Given the description of an element on the screen output the (x, y) to click on. 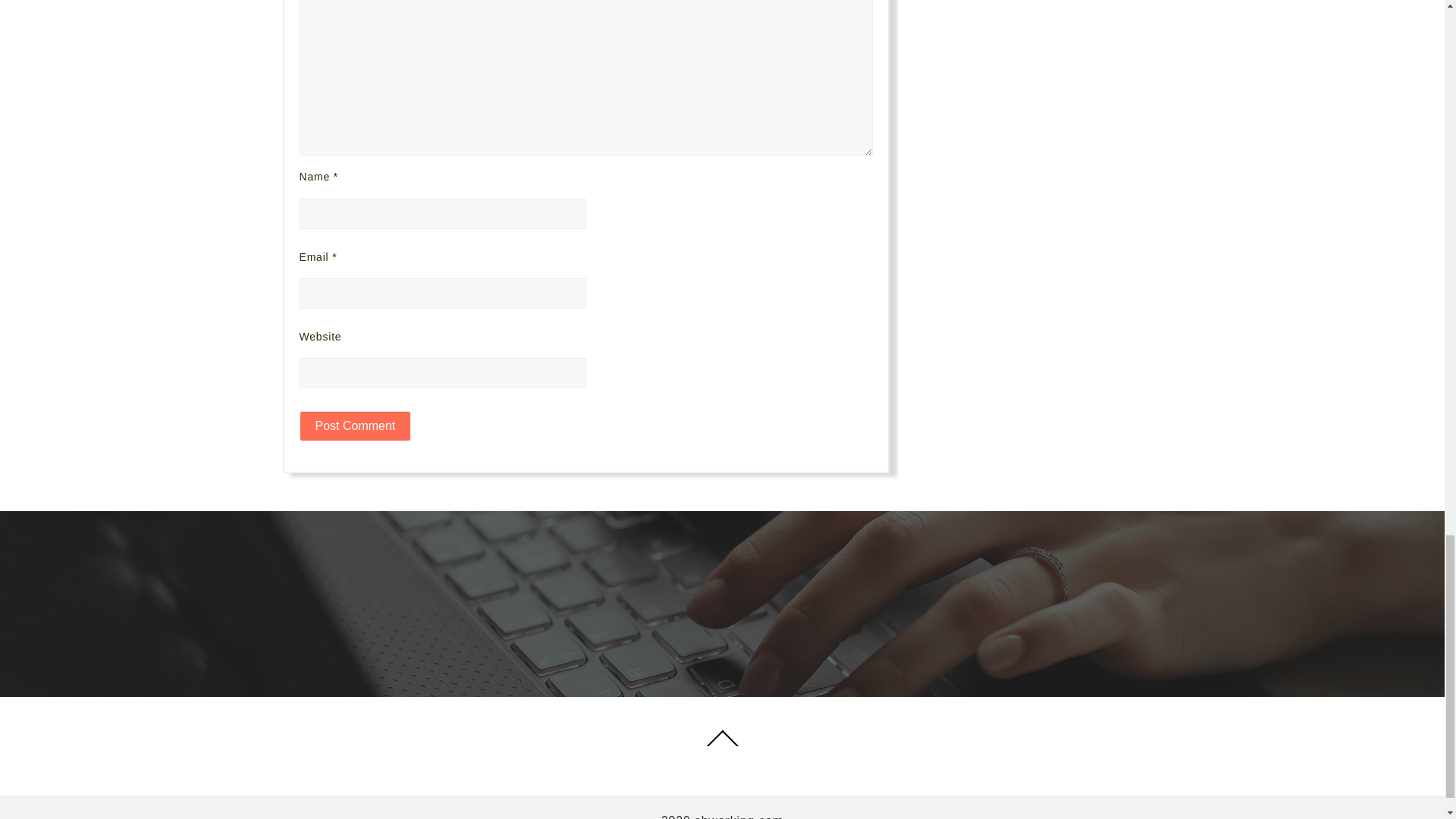
Post Comment (354, 426)
Post Comment (354, 426)
